Given the description of an element on the screen output the (x, y) to click on. 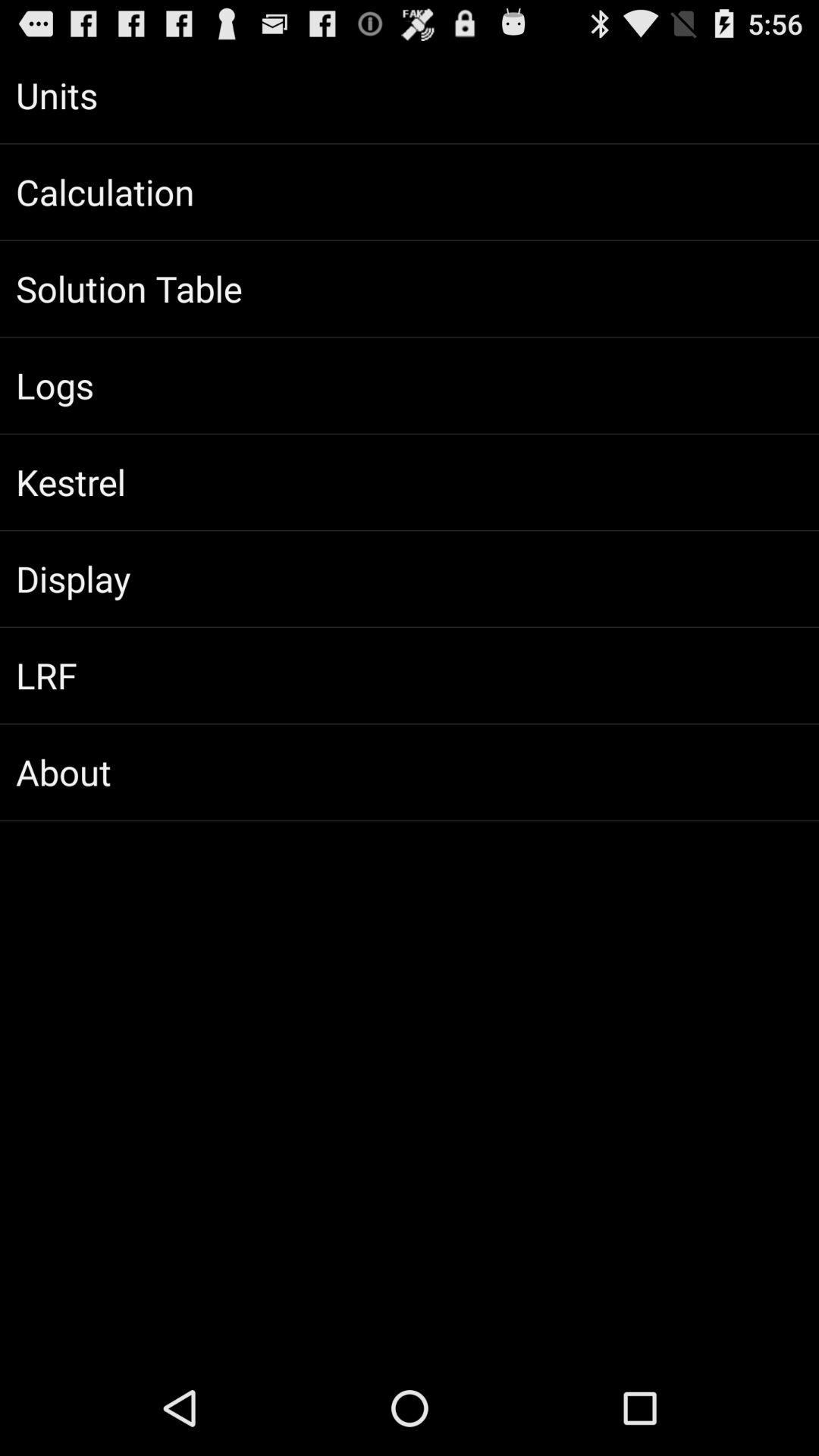
select the icon below display app (409, 675)
